Given the description of an element on the screen output the (x, y) to click on. 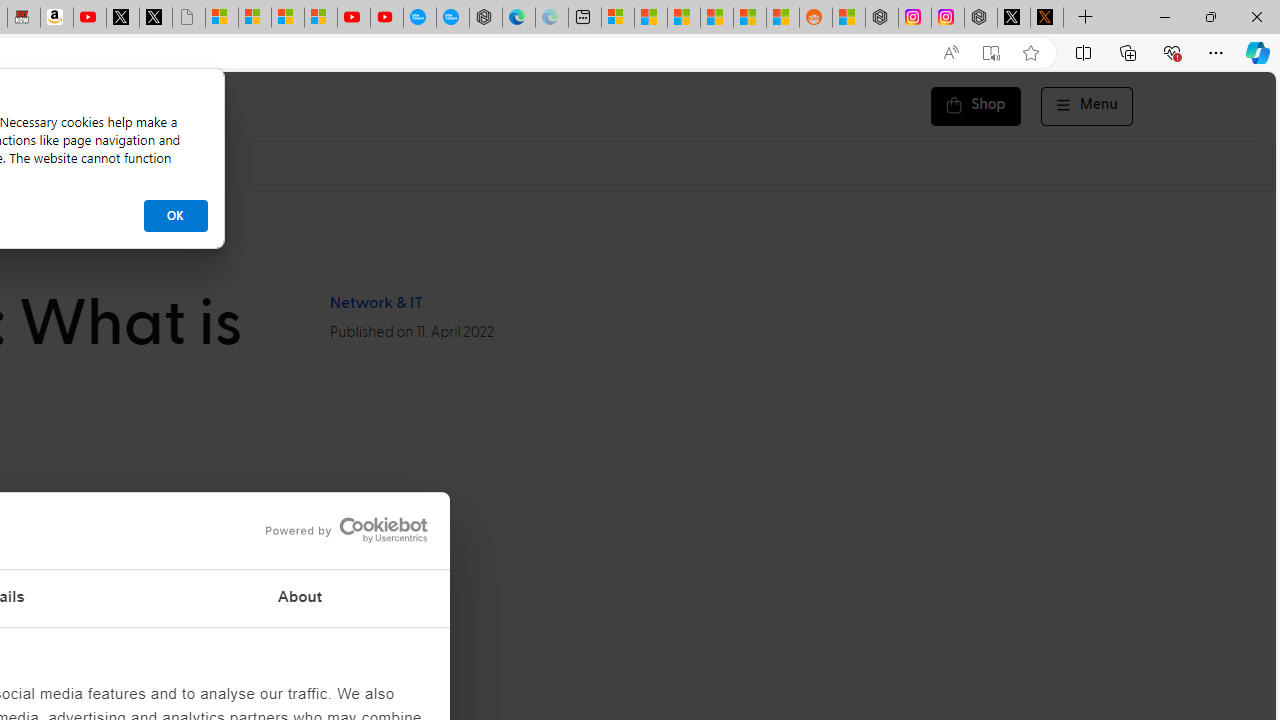
OK (175, 215)
